Given the description of an element on the screen output the (x, y) to click on. 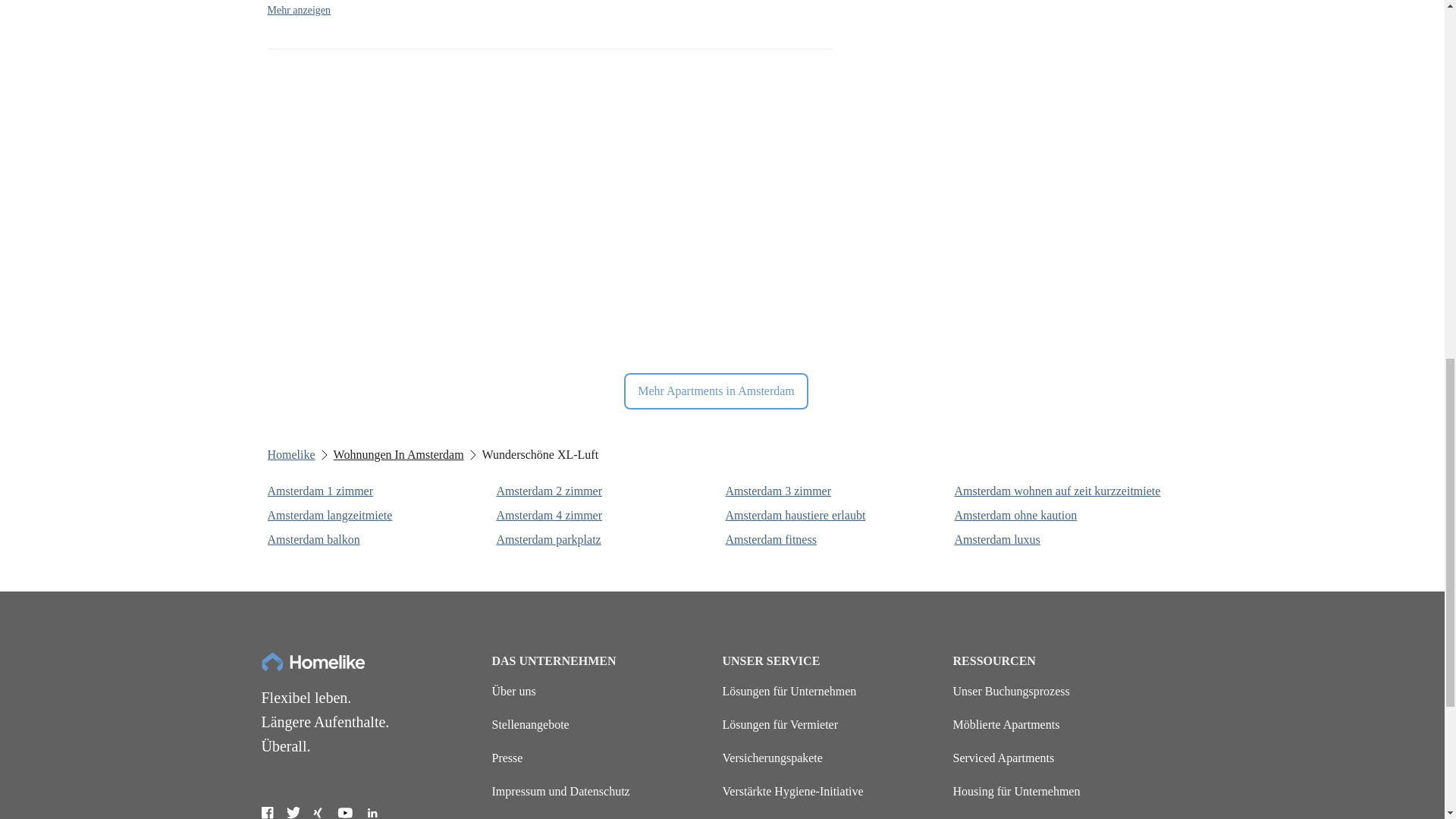
Mehr anzeigen (298, 10)
Mehr Apartments in Amsterdam (716, 391)
Versicherungspakete (772, 757)
Stellenangebote (530, 724)
Amsterdam wohnen auf zeit kurzzeitmiete (1064, 491)
Amsterdam ohne kaution (1064, 515)
Amsterdam parkplatz (607, 539)
Amsterdam 1 zimmer (377, 491)
Amsterdam fitness (836, 539)
Homelike Logo (312, 661)
